Given the description of an element on the screen output the (x, y) to click on. 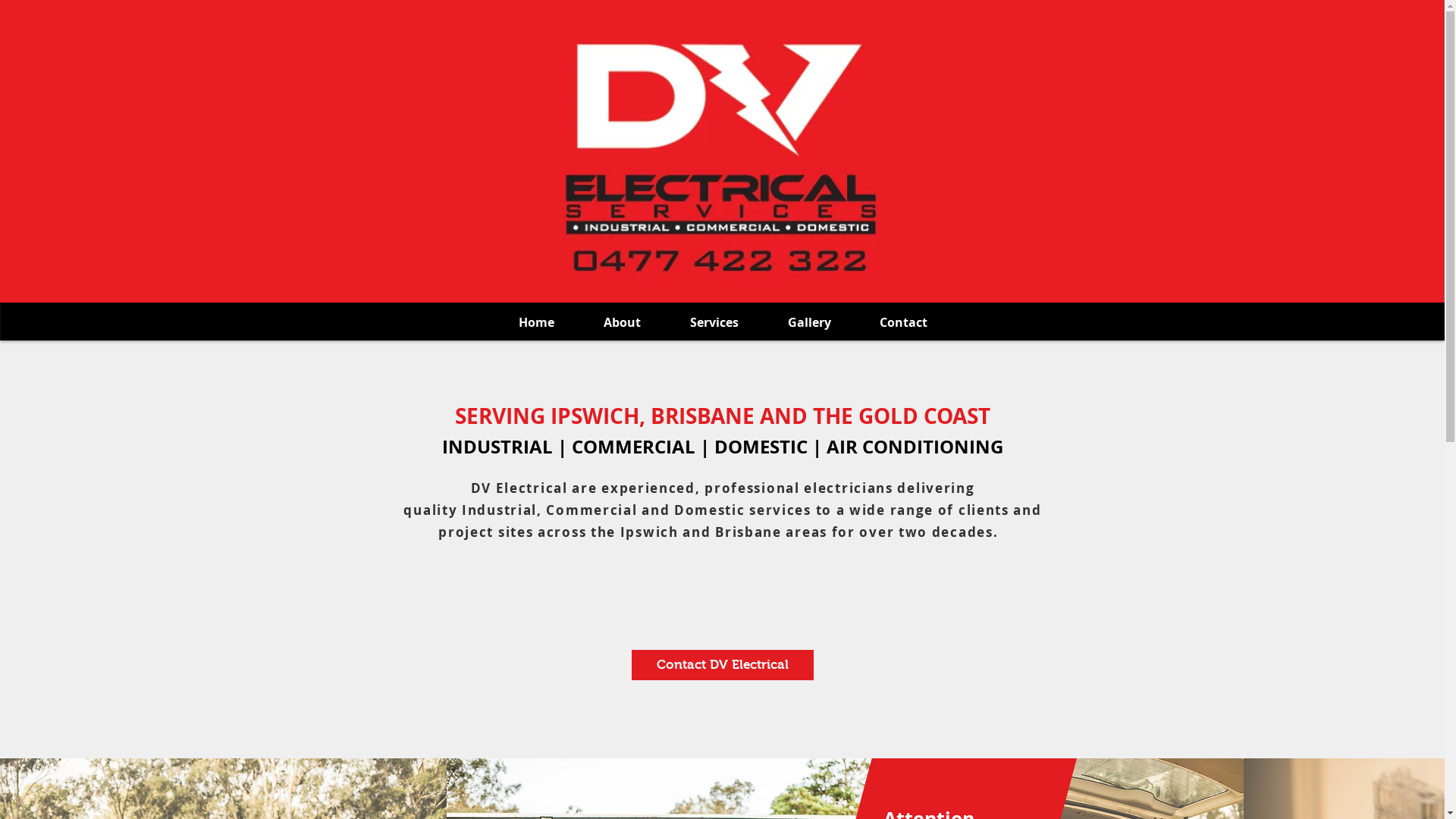
Contact DV Electrical Element type: text (721, 664)
Domestic Element type: text (709, 509)
About Element type: text (622, 322)
Contact Element type: text (903, 322)
Services Element type: text (714, 322)
Industrial Element type: text (498, 509)
Gallery Element type: text (808, 322)
Home Element type: text (536, 322)
Commercial Element type: text (591, 509)
